Given the description of an element on the screen output the (x, y) to click on. 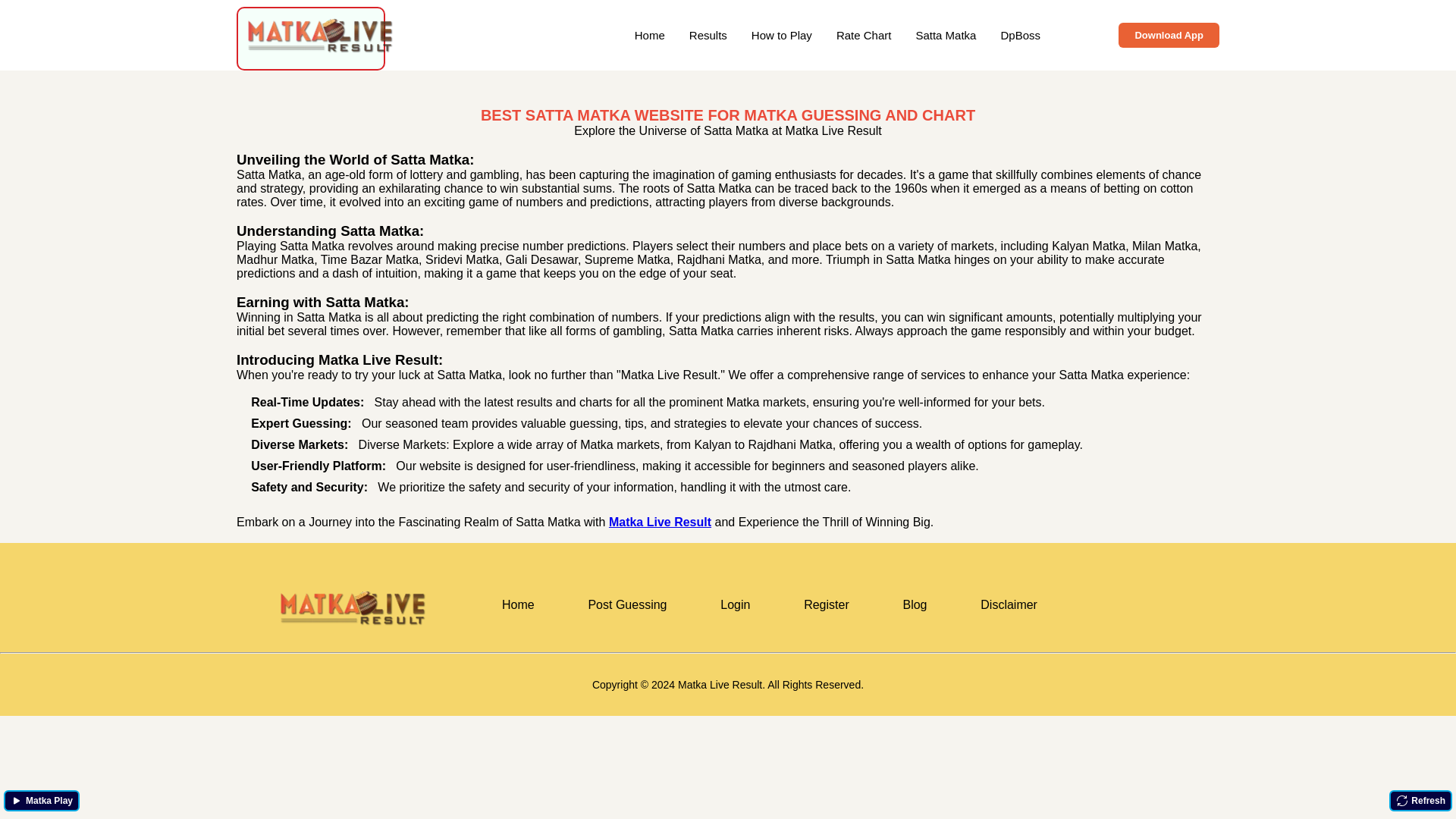
Rate Chart (863, 34)
Download App (1169, 35)
Post Guessing (626, 604)
Disclaimer (1008, 604)
Register (826, 604)
How to Play (781, 34)
Matka Live Result (659, 521)
DpBoss (1020, 34)
Home (518, 604)
Home (649, 34)
